Given the description of an element on the screen output the (x, y) to click on. 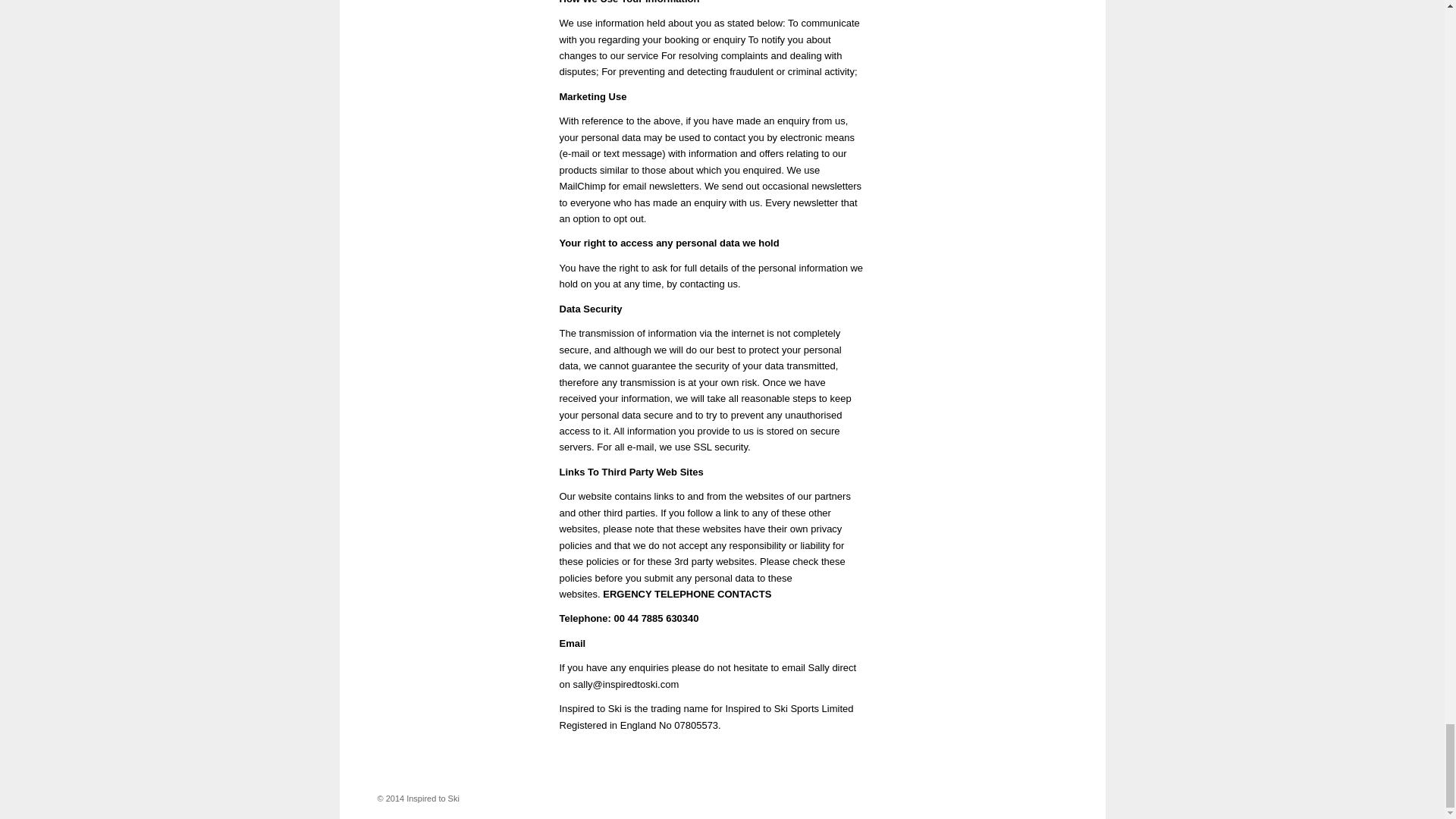
Email Sally Chapman (626, 684)
